Given the description of an element on the screen output the (x, y) to click on. 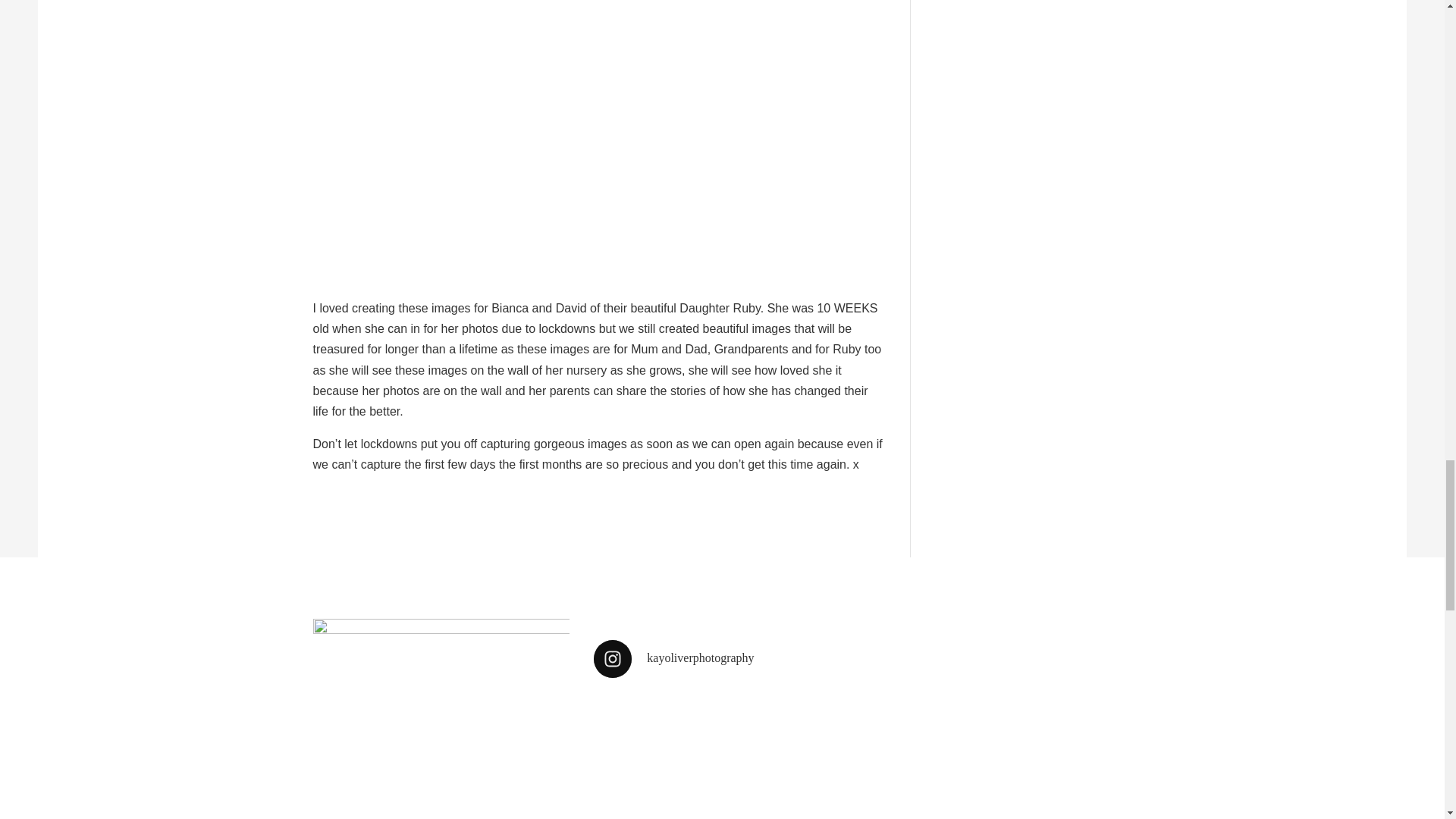
Kay Oliver Photography (441, 719)
